Given the description of an element on the screen output the (x, y) to click on. 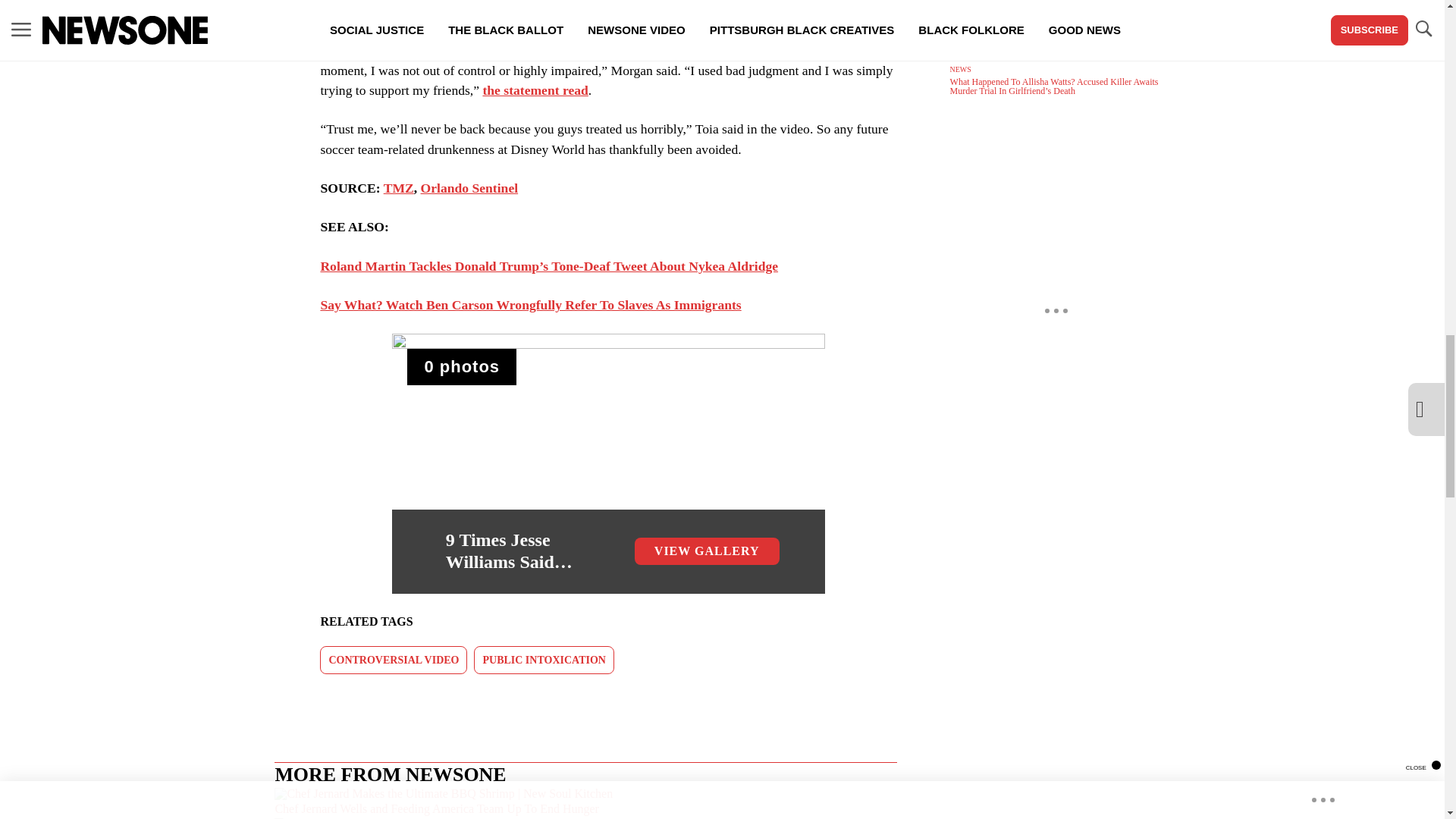
Media Playlist (461, 366)
PUBLIC INTOXICATION (543, 660)
CONTROVERSIAL VIDEO (393, 660)
the statement read (534, 89)
Chef Jernard Wells and Feeding America Team Up To End Hunger (585, 802)
TMZ (398, 187)
Orlando Sentinel (469, 187)
